Given the description of an element on the screen output the (x, y) to click on. 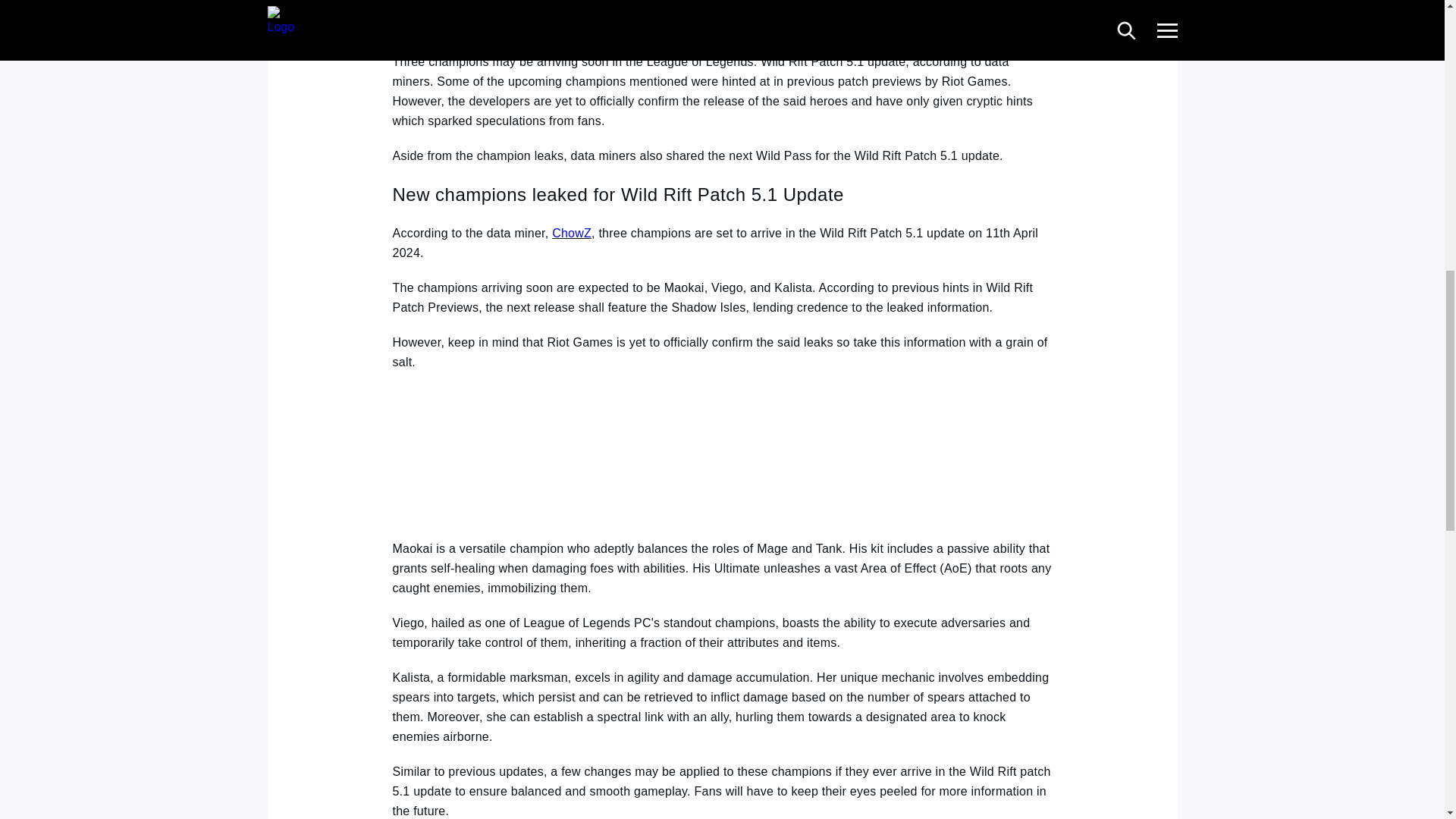
ChowZ (571, 232)
